Given the description of an element on the screen output the (x, y) to click on. 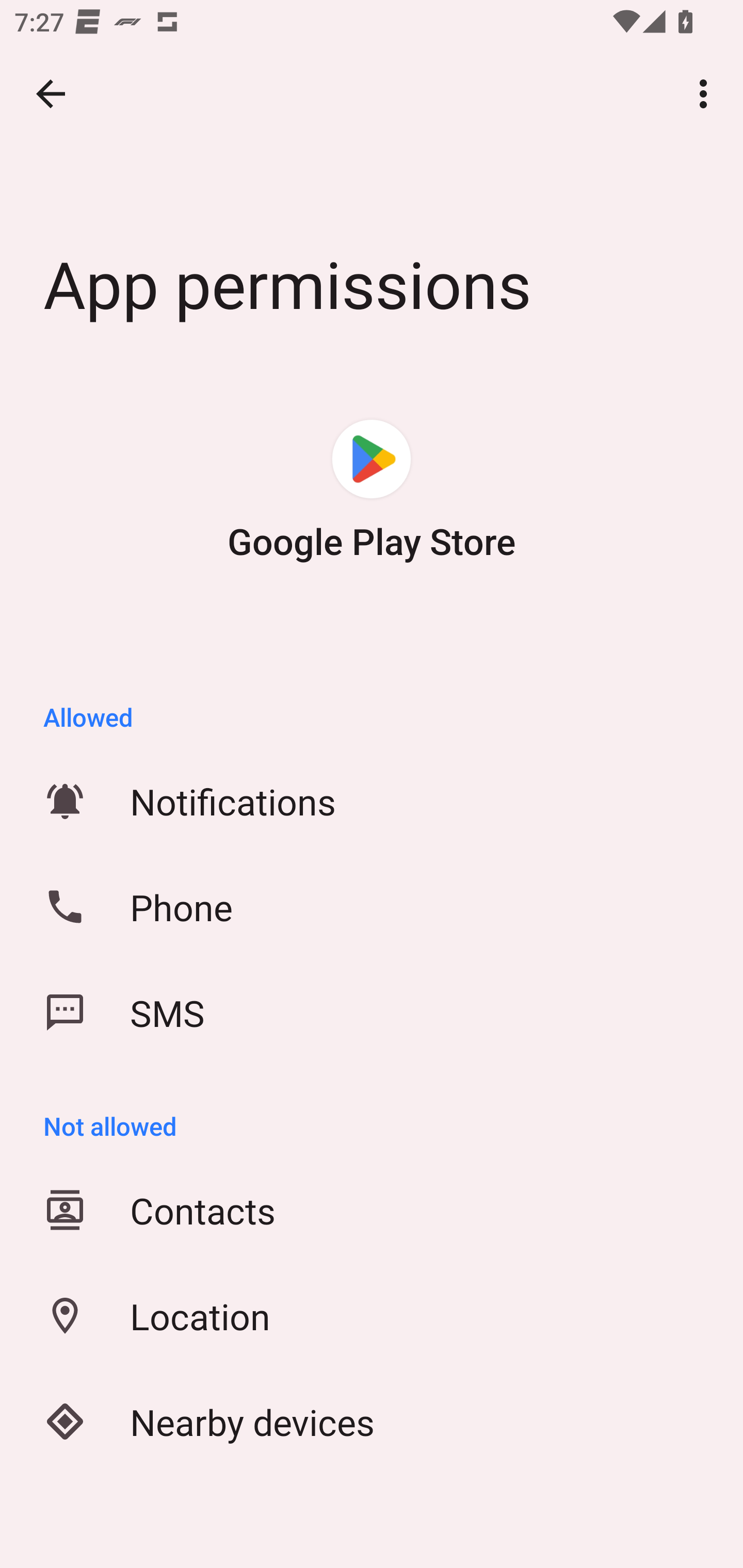
Back (50, 93)
More options (706, 93)
Notifications (371, 800)
Phone (371, 906)
SMS (371, 1012)
Contacts (371, 1210)
Location (371, 1315)
Nearby devices (371, 1420)
